Given the description of an element on the screen output the (x, y) to click on. 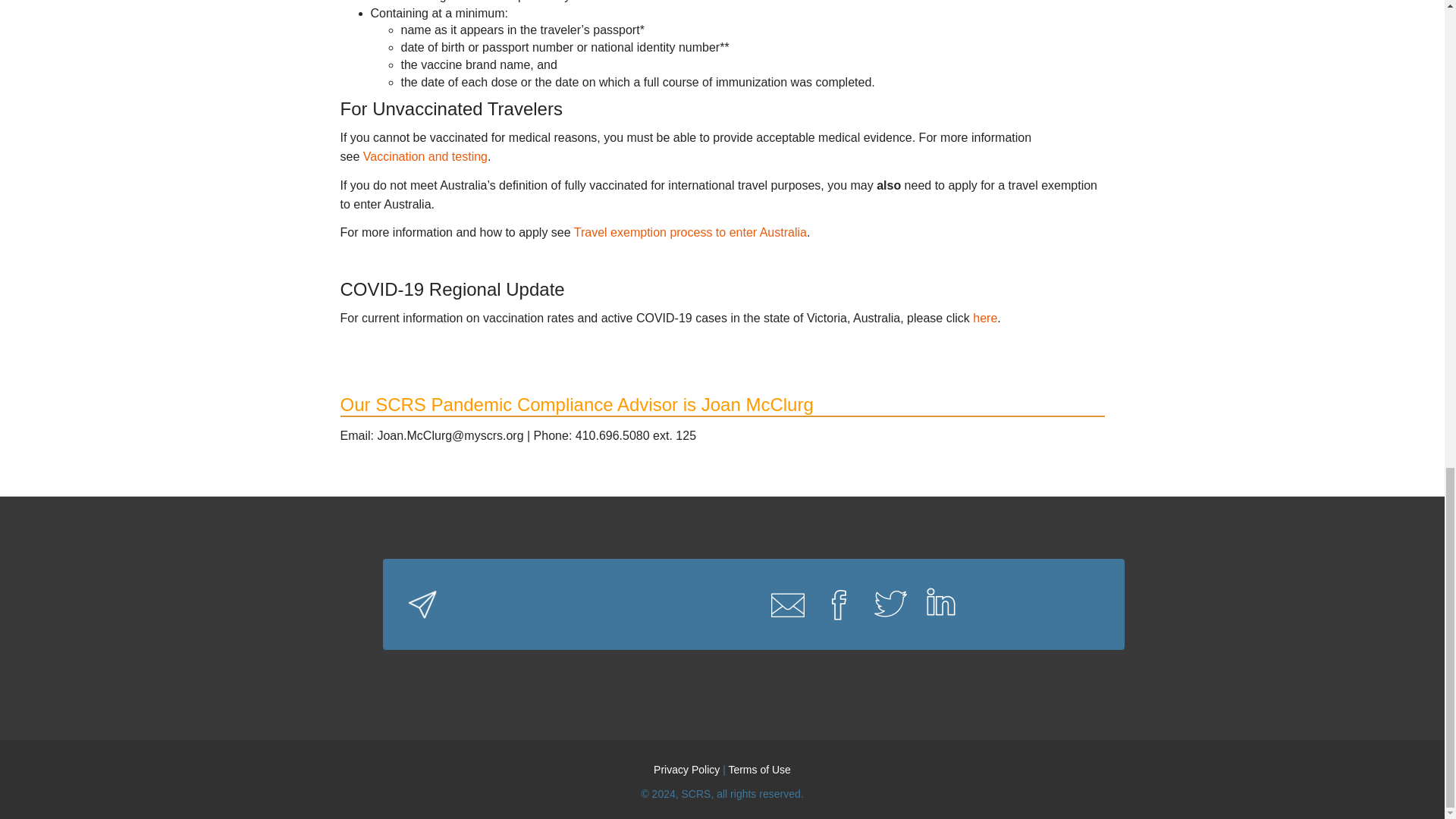
Travel exemption process to enter Australia (689, 232)
here (984, 318)
Vaccination and testing (424, 155)
Privacy Policy (686, 769)
Terms of Use (759, 769)
